Given the description of an element on the screen output the (x, y) to click on. 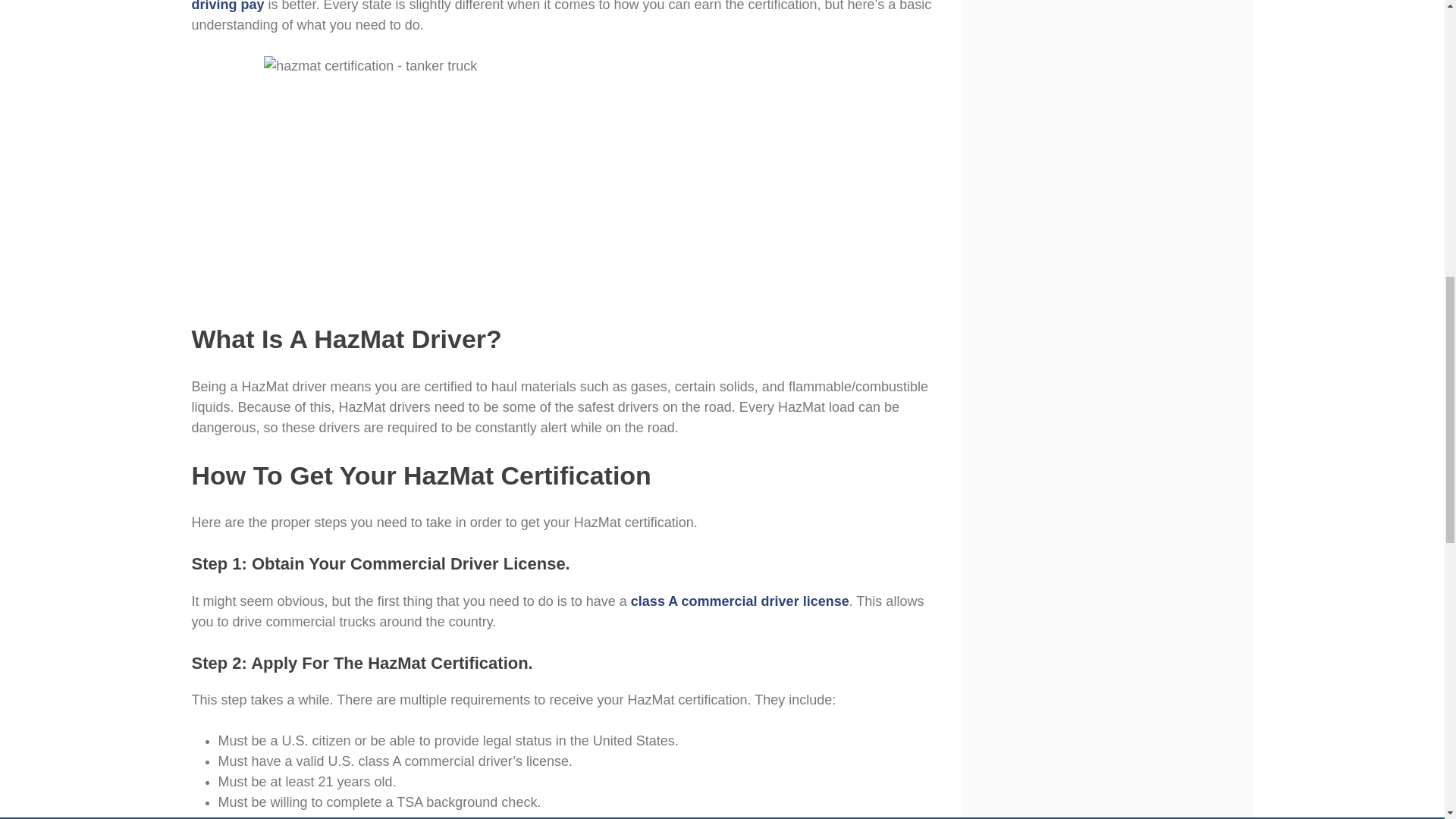
class A commercial driver license (739, 601)
disqualifying criminal offenses (433, 816)
truck driving pay (564, 6)
